Given the description of an element on the screen output the (x, y) to click on. 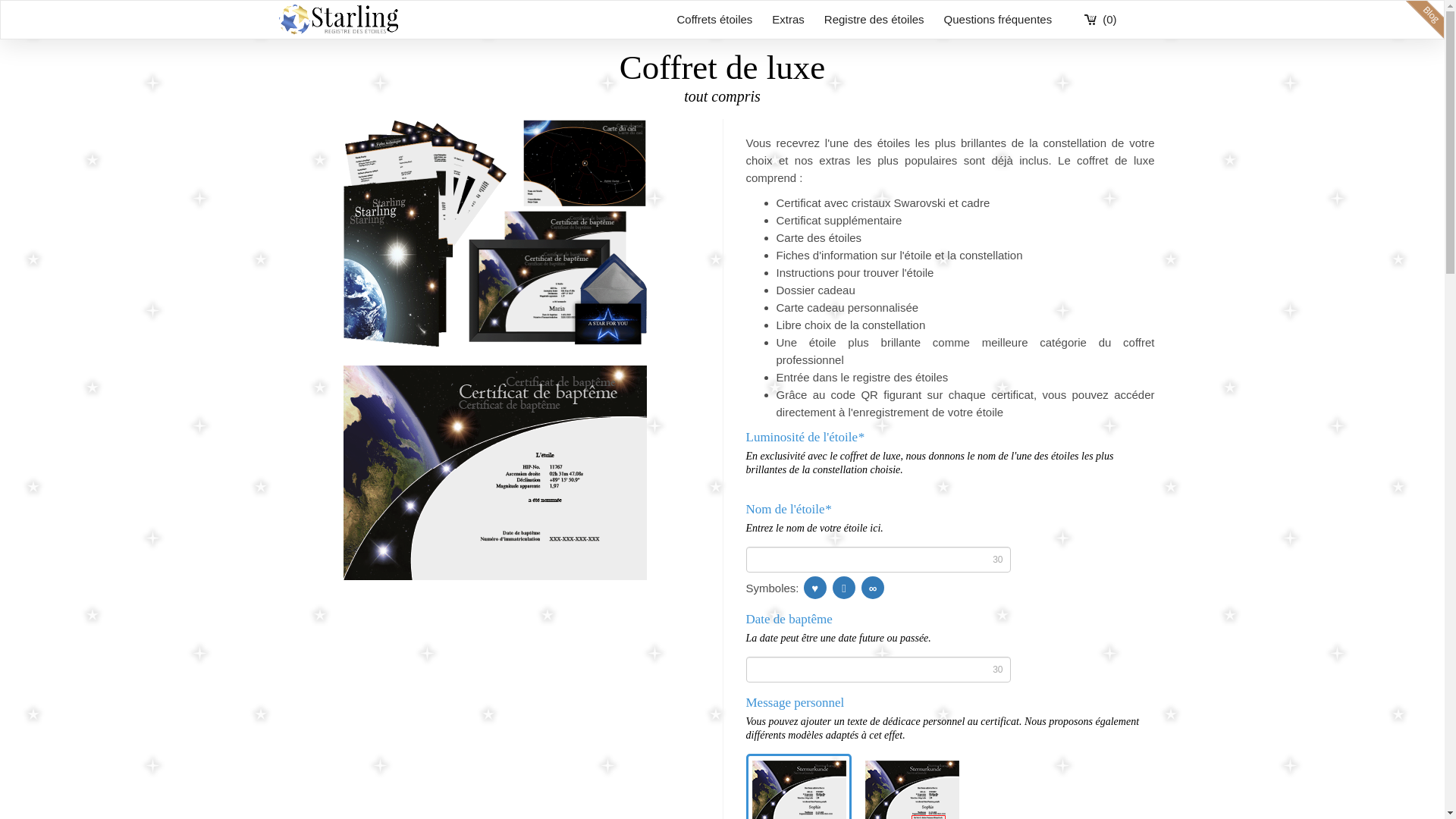
(0) Element type: text (1100, 19)
5409 Element type: text (967, 775)
Extras Element type: text (788, 19)
Certificate FR Element type: hover (494, 472)
